Given the description of an element on the screen output the (x, y) to click on. 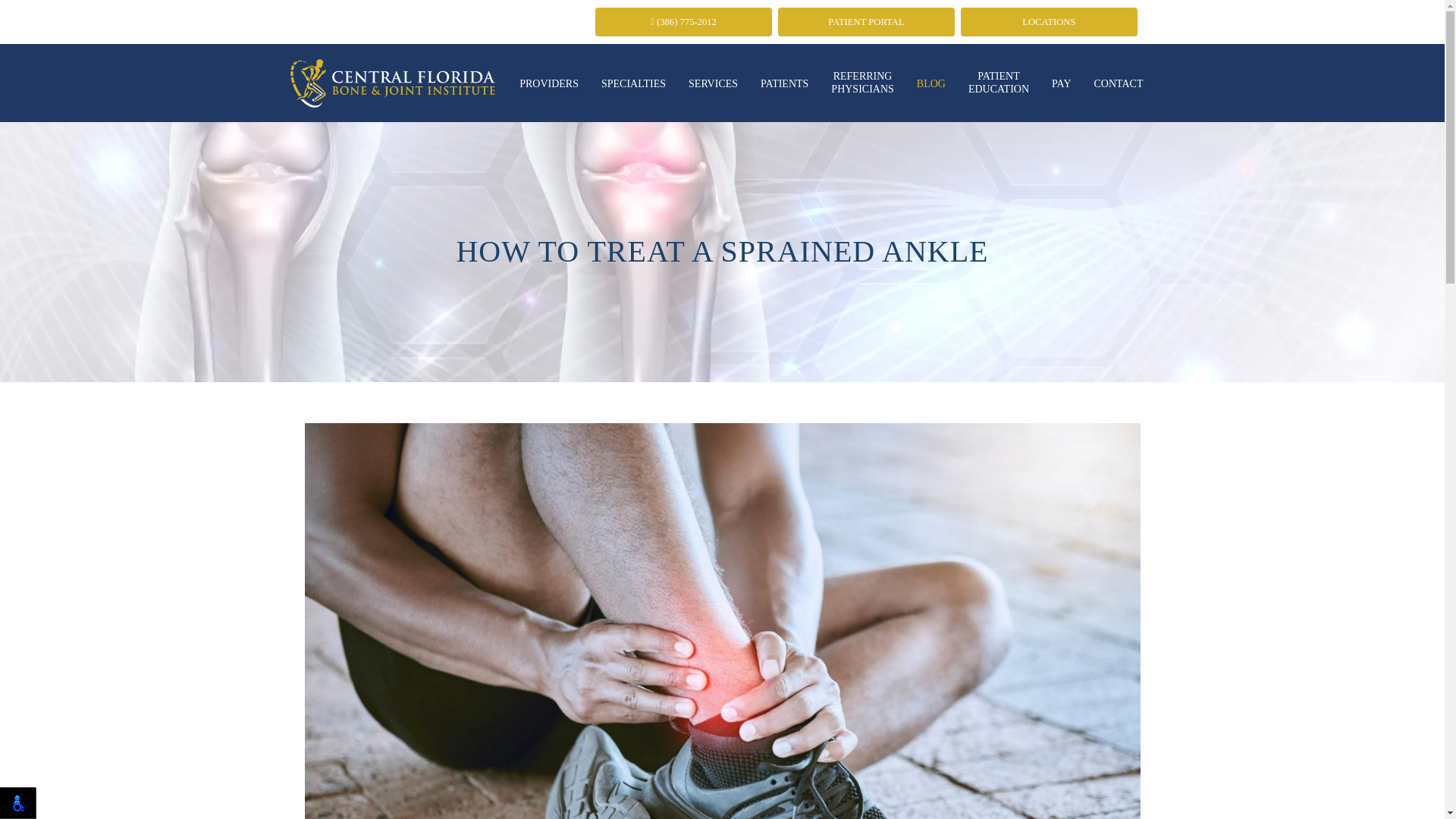
PAY (1061, 84)
SERVICES (713, 84)
SERVICES (713, 84)
PROVIDERS (998, 83)
SPECIALTIES (548, 84)
Central Florida Bone and Joint Institute (633, 84)
LOCATIONS (392, 79)
PATIENTS (861, 83)
Services (1049, 21)
BLOG (784, 84)
Specialties (713, 84)
Providers (930, 84)
PATIENT PORTAL (633, 84)
